Given the description of an element on the screen output the (x, y) to click on. 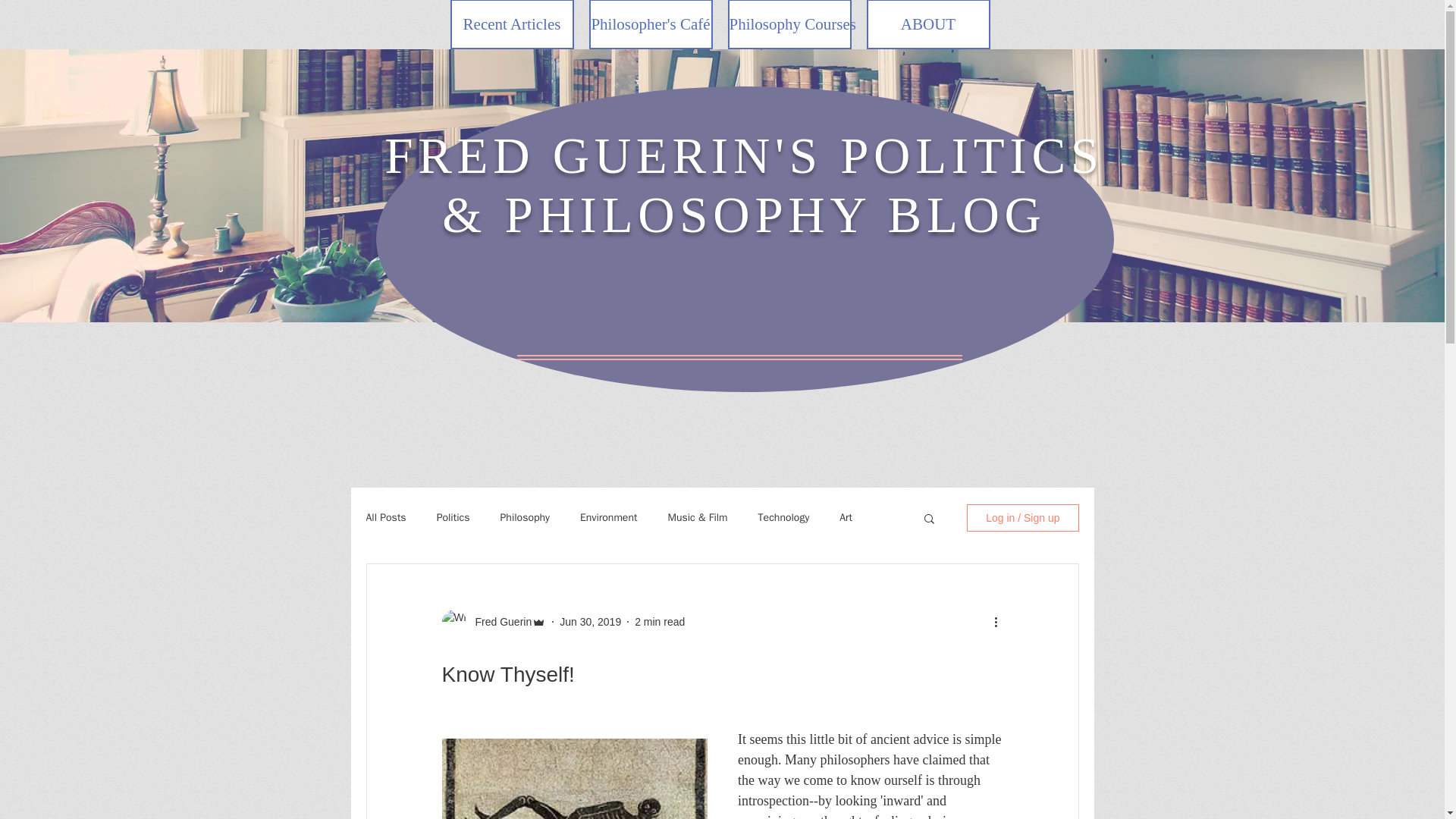
All Posts (385, 517)
Art (845, 517)
Fred Guerin (498, 621)
Environment (608, 517)
Jun 30, 2019 (590, 621)
Technology (783, 517)
ABOUT (928, 24)
Philosophy Courses (789, 24)
Philosophy (525, 517)
Recent Articles (511, 24)
2 min read (659, 621)
Politics (453, 517)
